Given the description of an element on the screen output the (x, y) to click on. 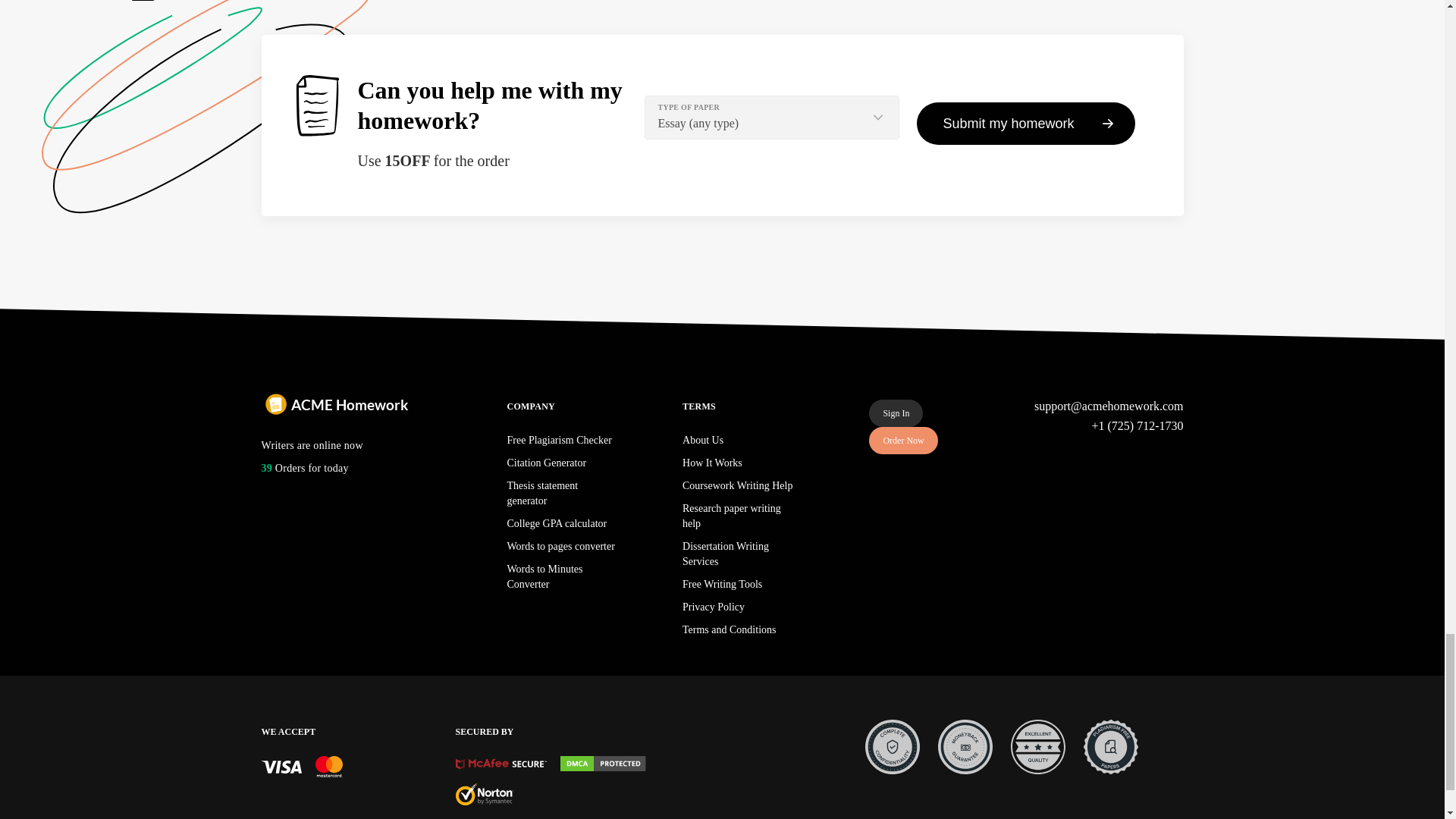
Citation Generator (546, 462)
About Us (702, 439)
Words to Minutes Converter (544, 576)
Submit my homework (1025, 123)
Terms and Conditions (729, 629)
Free Writing Tools (721, 583)
How It Works (712, 462)
Dissertation Writing Services (725, 553)
Order Now (903, 440)
Words to pages converter (560, 546)
Submit my homework (1025, 123)
College GPA calculator (556, 523)
Sign In (896, 412)
Privacy Policy (713, 606)
Research paper writing help (731, 515)
